Given the description of an element on the screen output the (x, y) to click on. 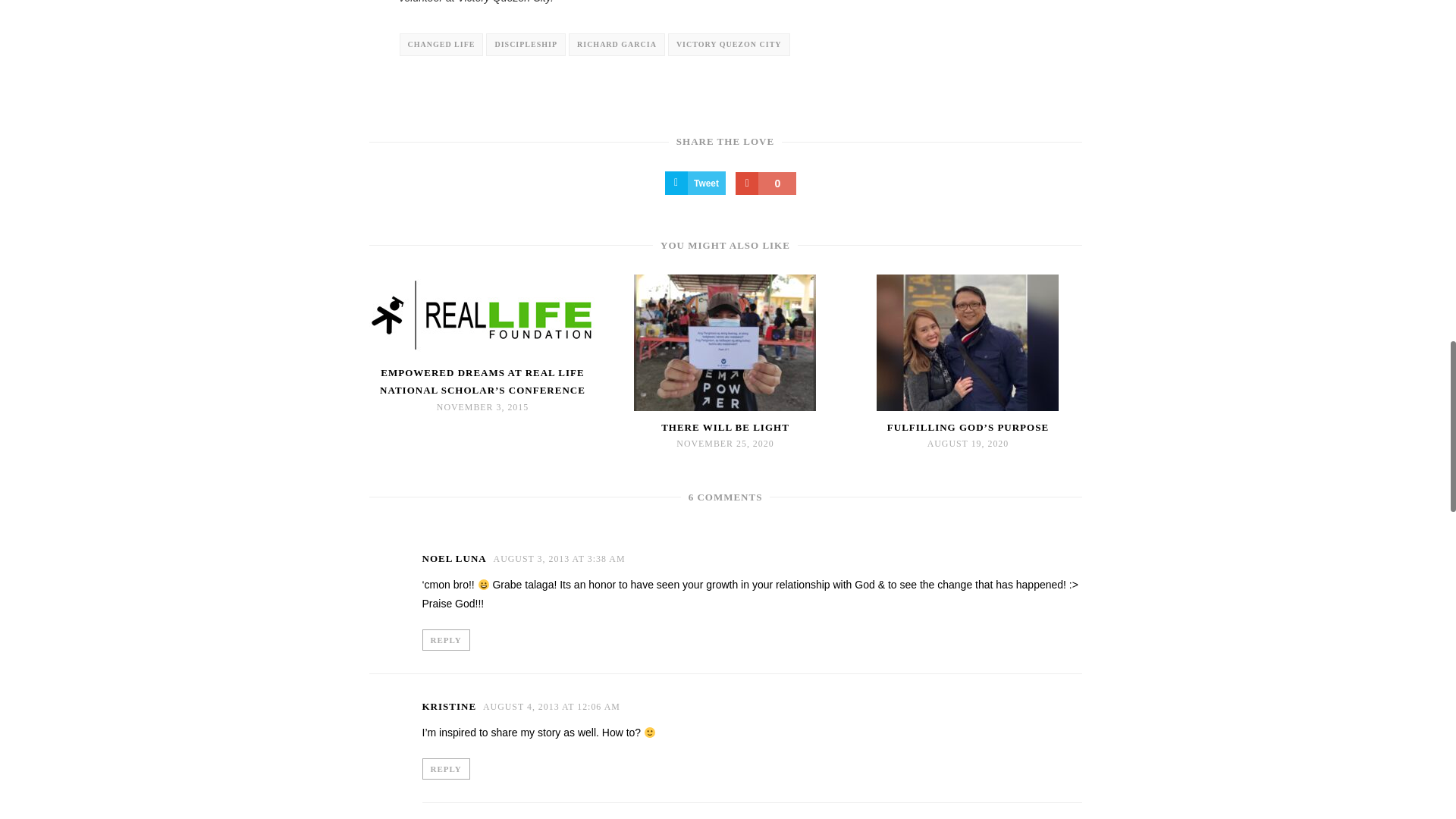
REPLY (445, 767)
THERE WILL BE LIGHT (724, 426)
DISCIPLESHIP (526, 44)
Tweet (694, 182)
RICHARD GARCIA (617, 44)
VICTORY QUEZON CITY (729, 44)
REPLY (445, 639)
CHANGED LIFE (440, 44)
0 (765, 182)
